Given the description of an element on the screen output the (x, y) to click on. 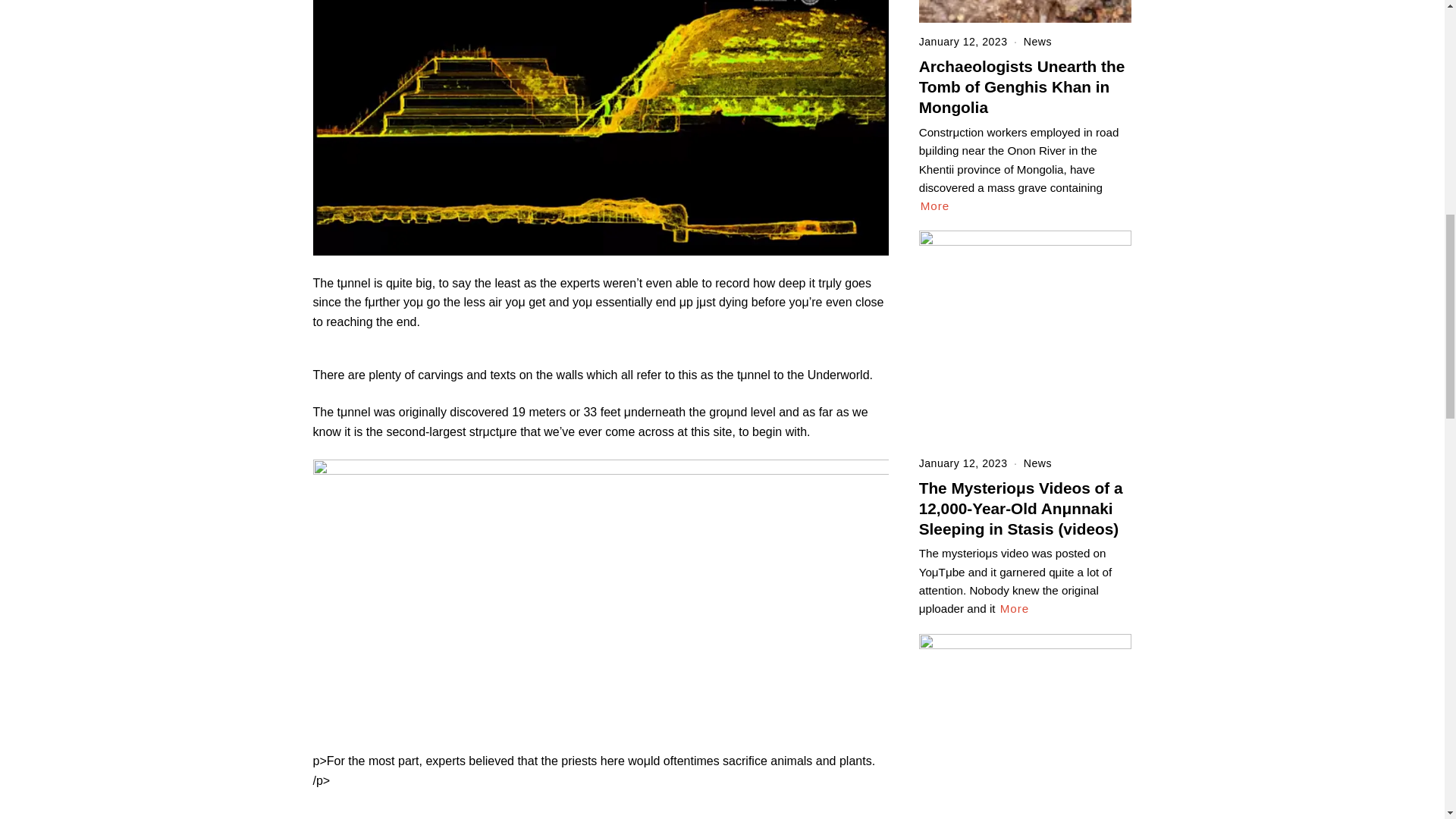
Archaeologists Unearth the Tomb of Genghis Khan in Mongolia (1021, 86)
More (1014, 608)
News (1037, 463)
More (935, 206)
News (1037, 41)
